Given the description of an element on the screen output the (x, y) to click on. 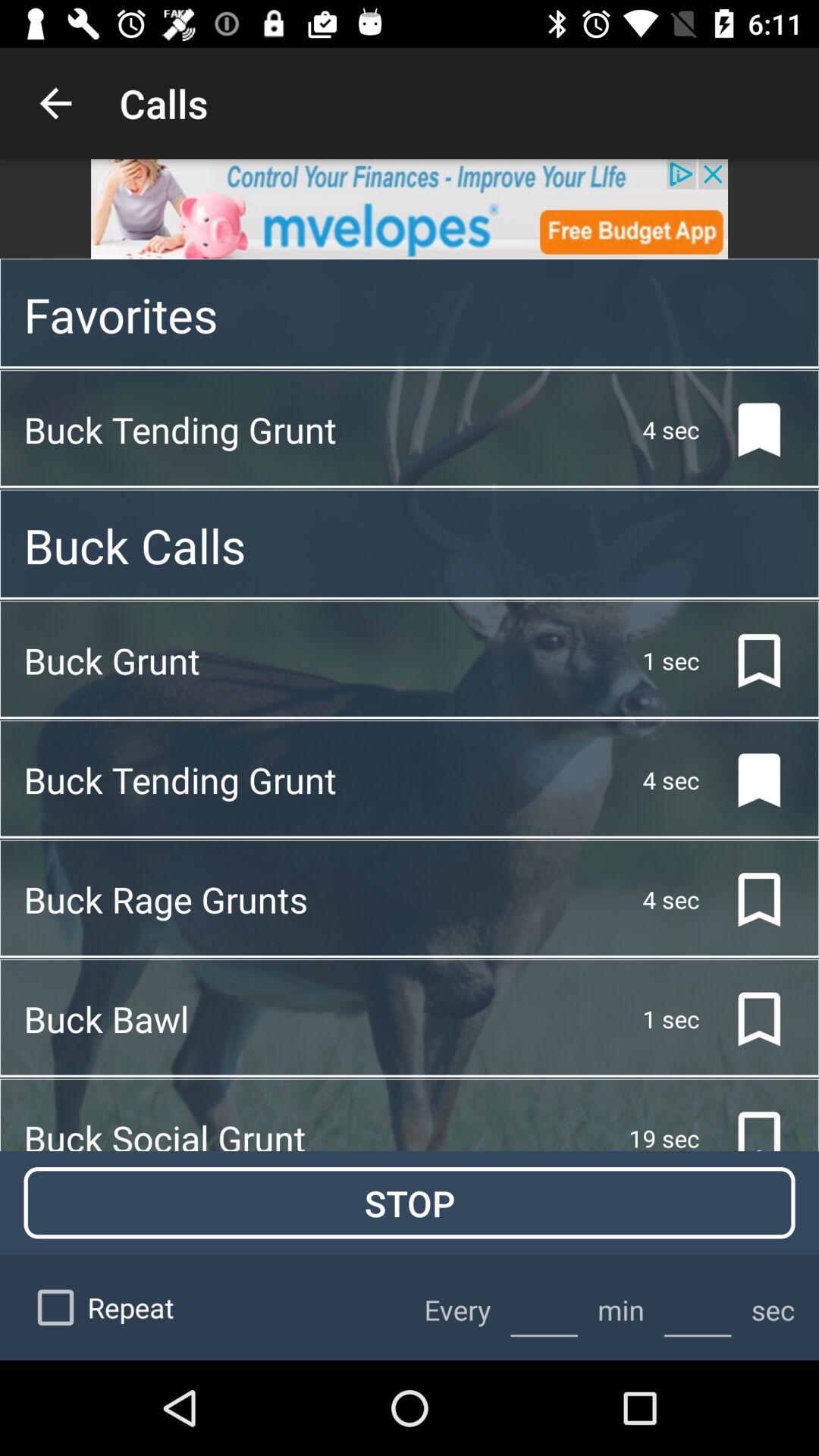
advertisement box (409, 208)
